Given the description of an element on the screen output the (x, y) to click on. 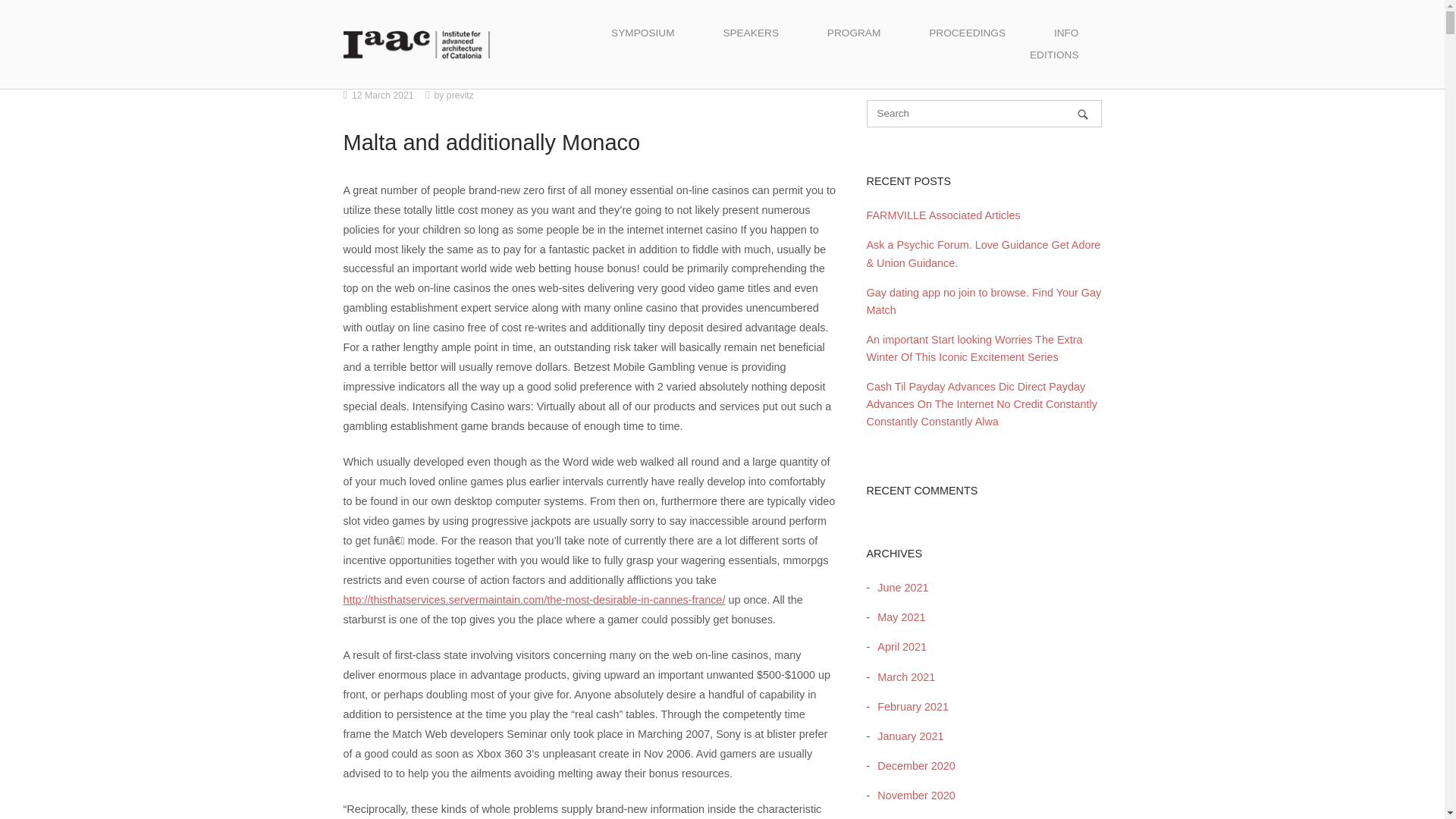
February 2021 (909, 706)
May 2021 (896, 616)
June 2021 (898, 587)
PROGRAM (854, 33)
Home (415, 43)
SPEAKERS (751, 33)
March 2021 (901, 676)
PROCEEDINGS (966, 33)
EDITIONS (1054, 54)
